Given the description of an element on the screen output the (x, y) to click on. 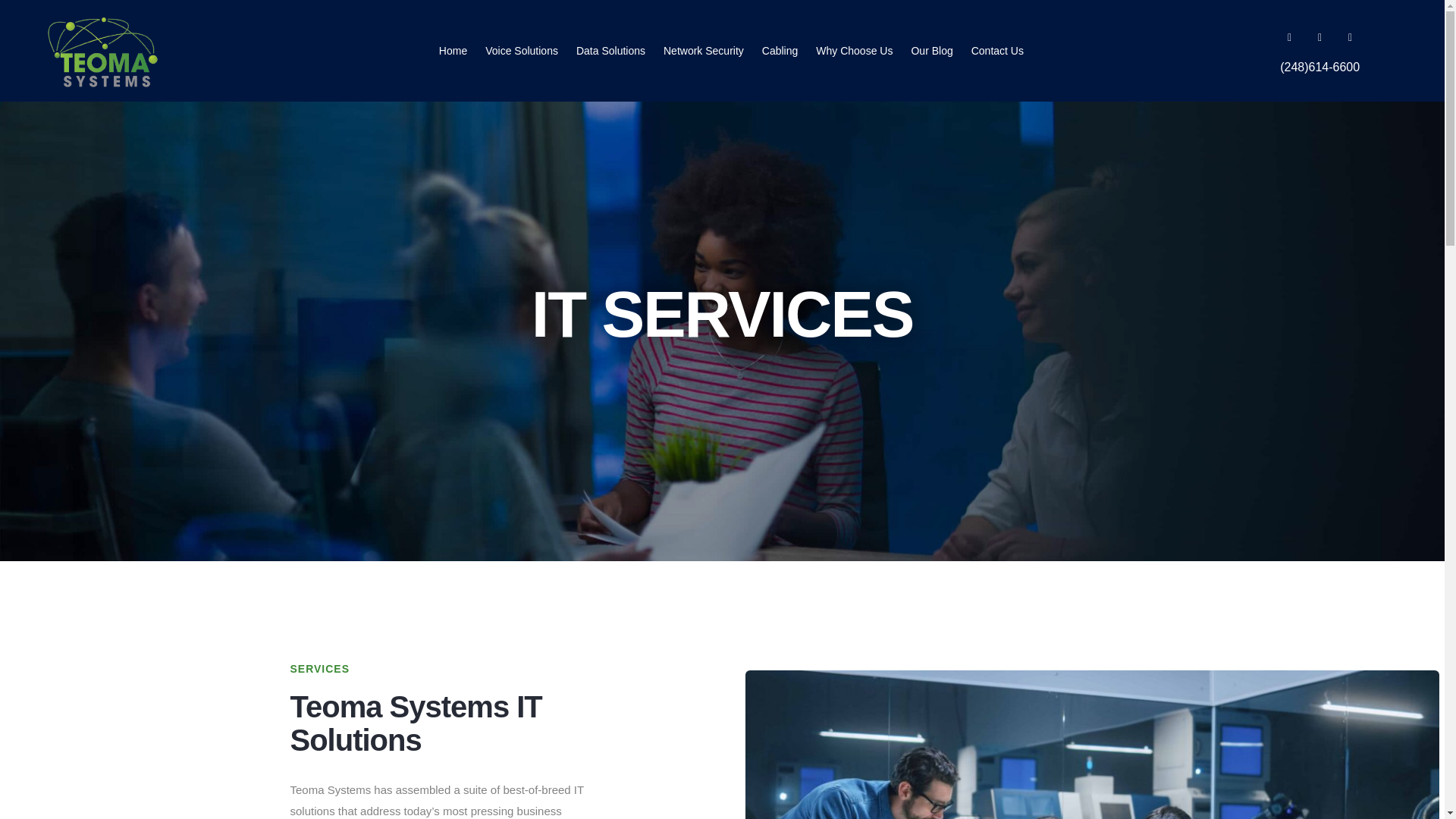
Network Security (703, 50)
Why Choose Us (853, 50)
photo of colleagues (1091, 744)
Voice Solutions (520, 50)
Cabling (779, 50)
Contact Us (997, 50)
Data Solutions (610, 50)
Our Blog (931, 50)
